Given the description of an element on the screen output the (x, y) to click on. 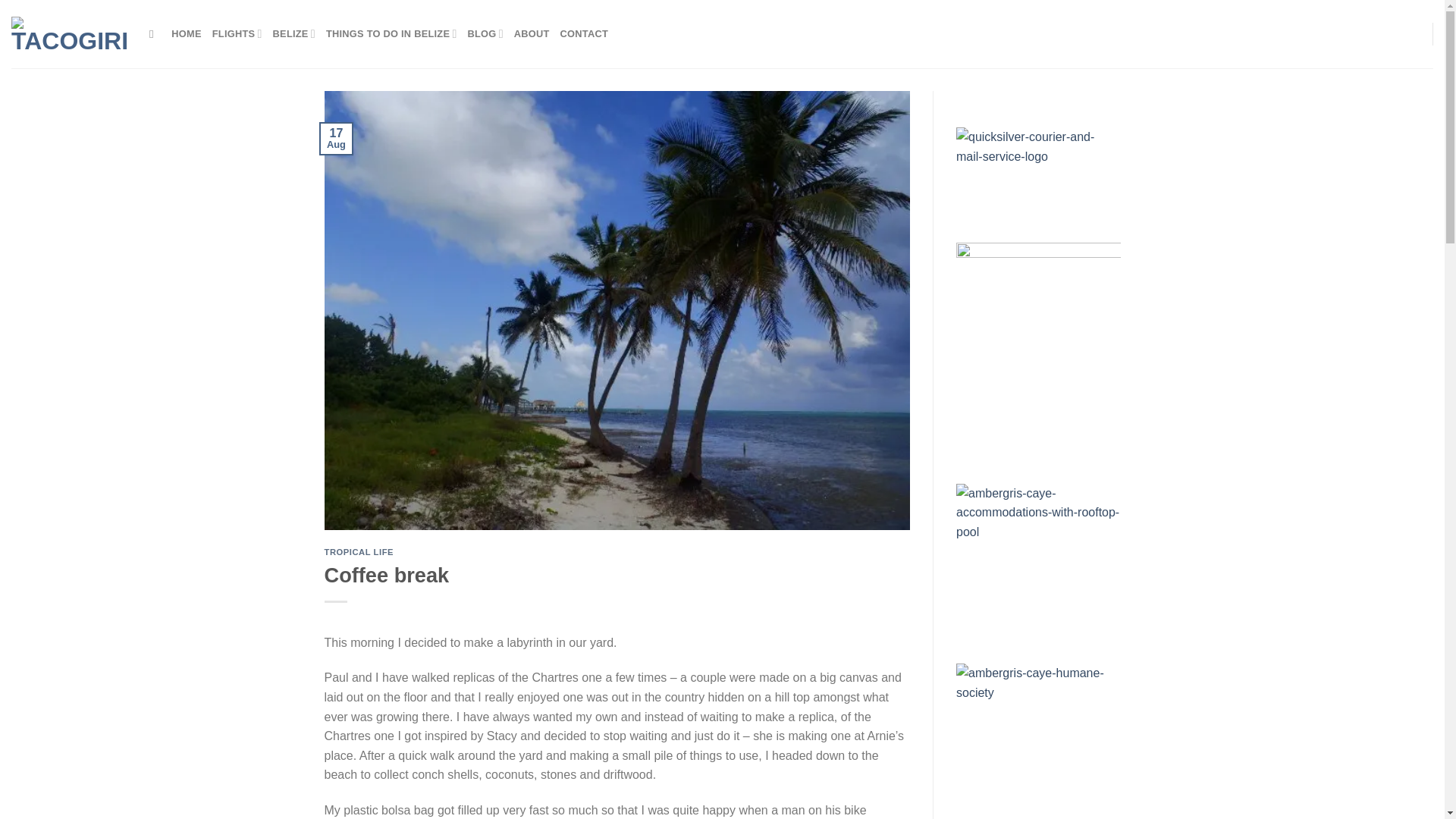
BELIZE (294, 33)
ABOUT (531, 33)
BLOG (484, 33)
tacogirl Belize - Blogging Belize since 2007 (68, 33)
THINGS TO DO IN BELIZE (391, 33)
FLIGHTS (237, 33)
HOME (185, 33)
CONTACT (584, 33)
TROPICAL LIFE (359, 551)
